Given the description of an element on the screen output the (x, y) to click on. 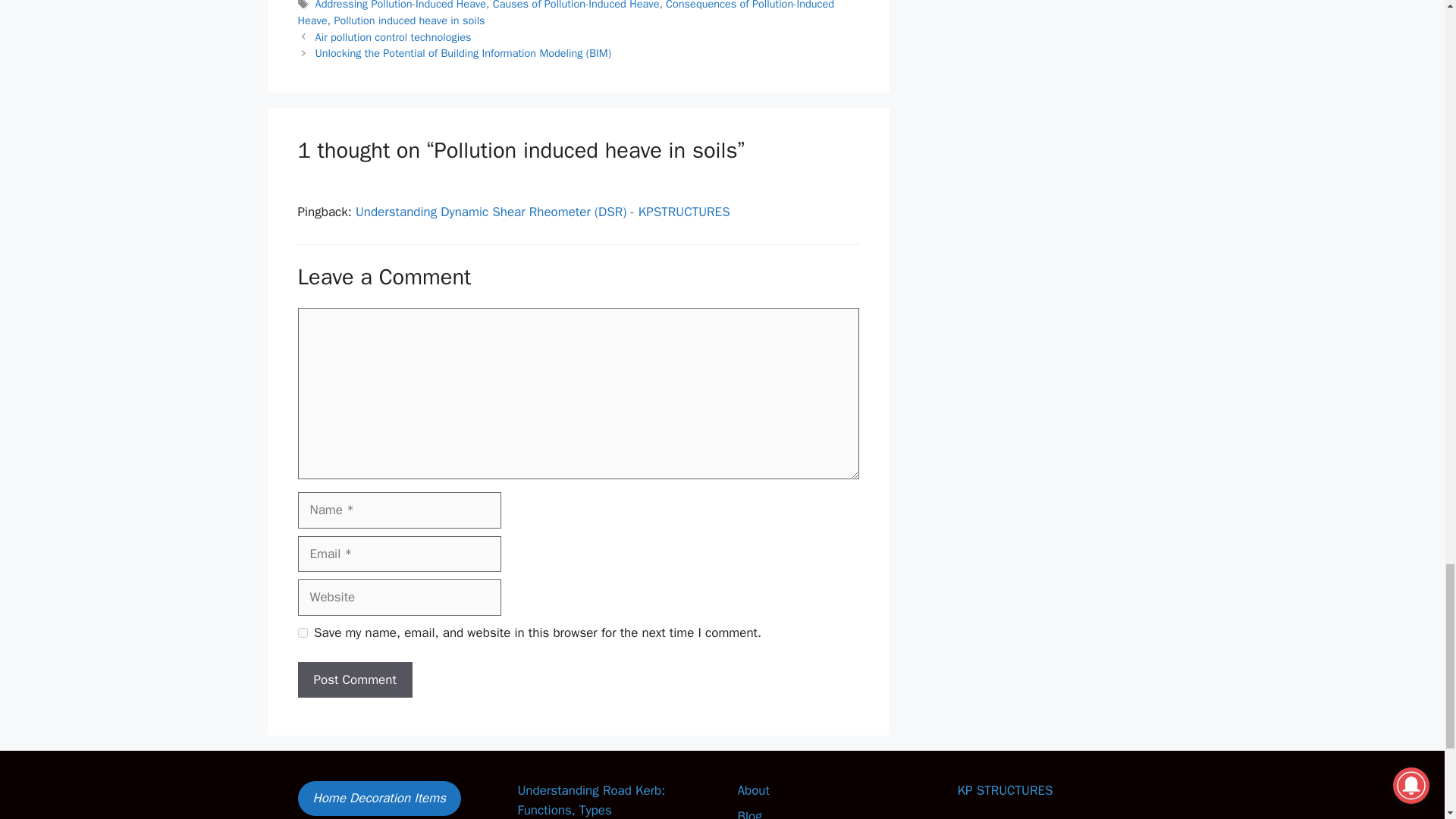
Post Comment (354, 679)
yes (302, 633)
